Given the description of an element on the screen output the (x, y) to click on. 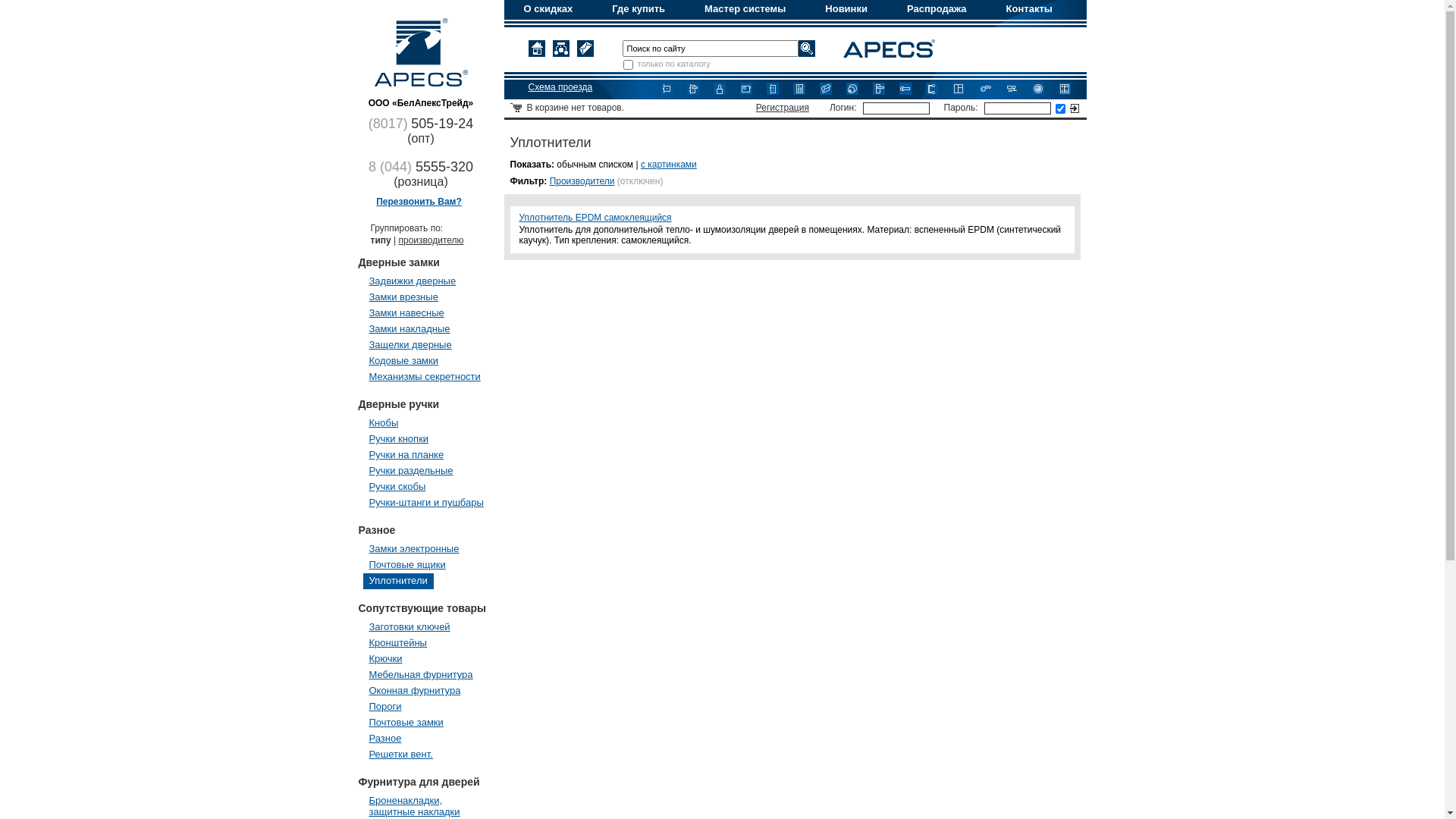
  Element type: text (535, 48)
  Element type: text (1073, 108)
  Element type: text (584, 48)
  Element type: text (560, 48)
  Element type: text (805, 48)
